Given the description of an element on the screen output the (x, y) to click on. 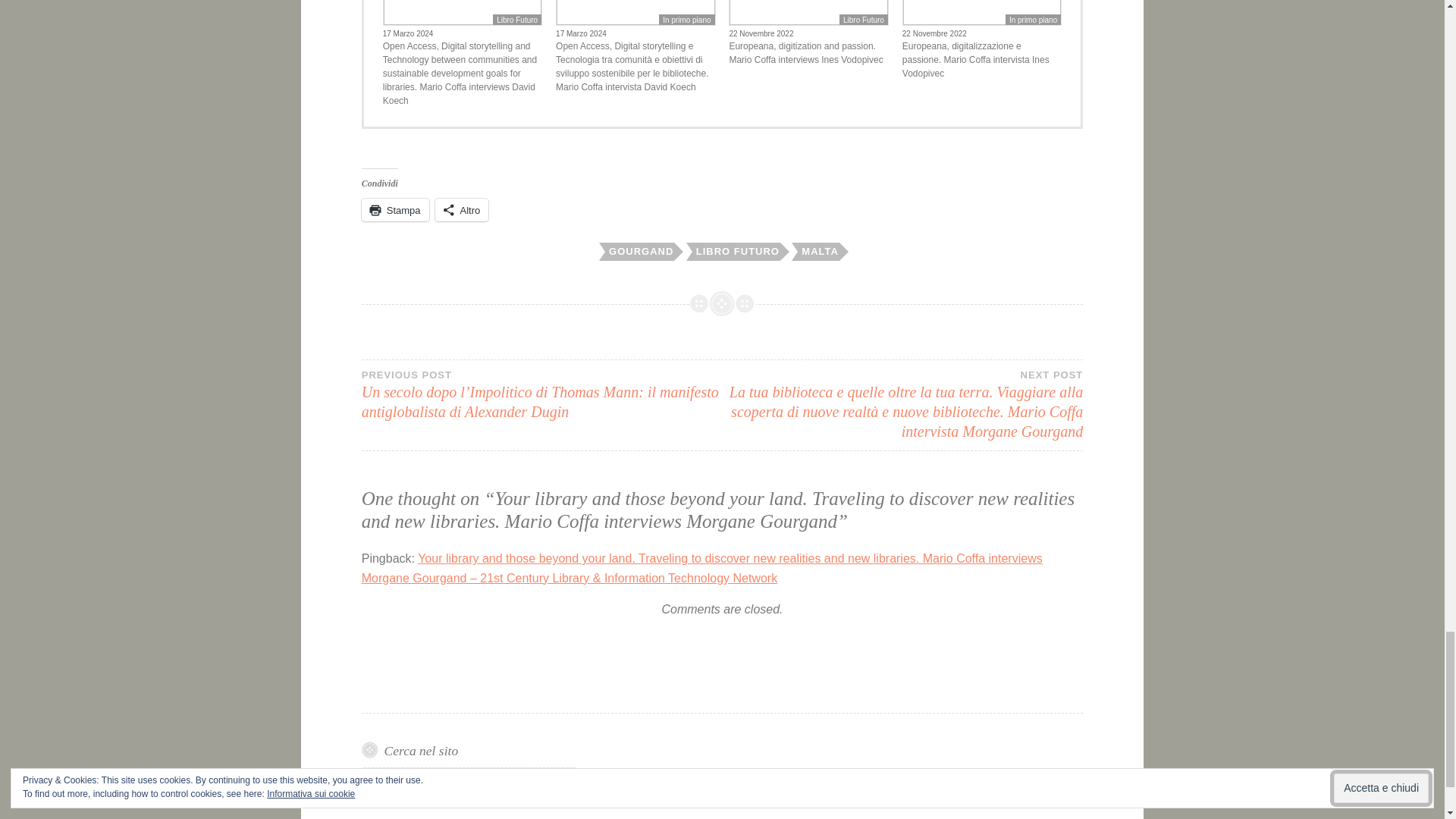
Libro Futuro (517, 19)
Fai clic qui per stampare (395, 210)
